Given the description of an element on the screen output the (x, y) to click on. 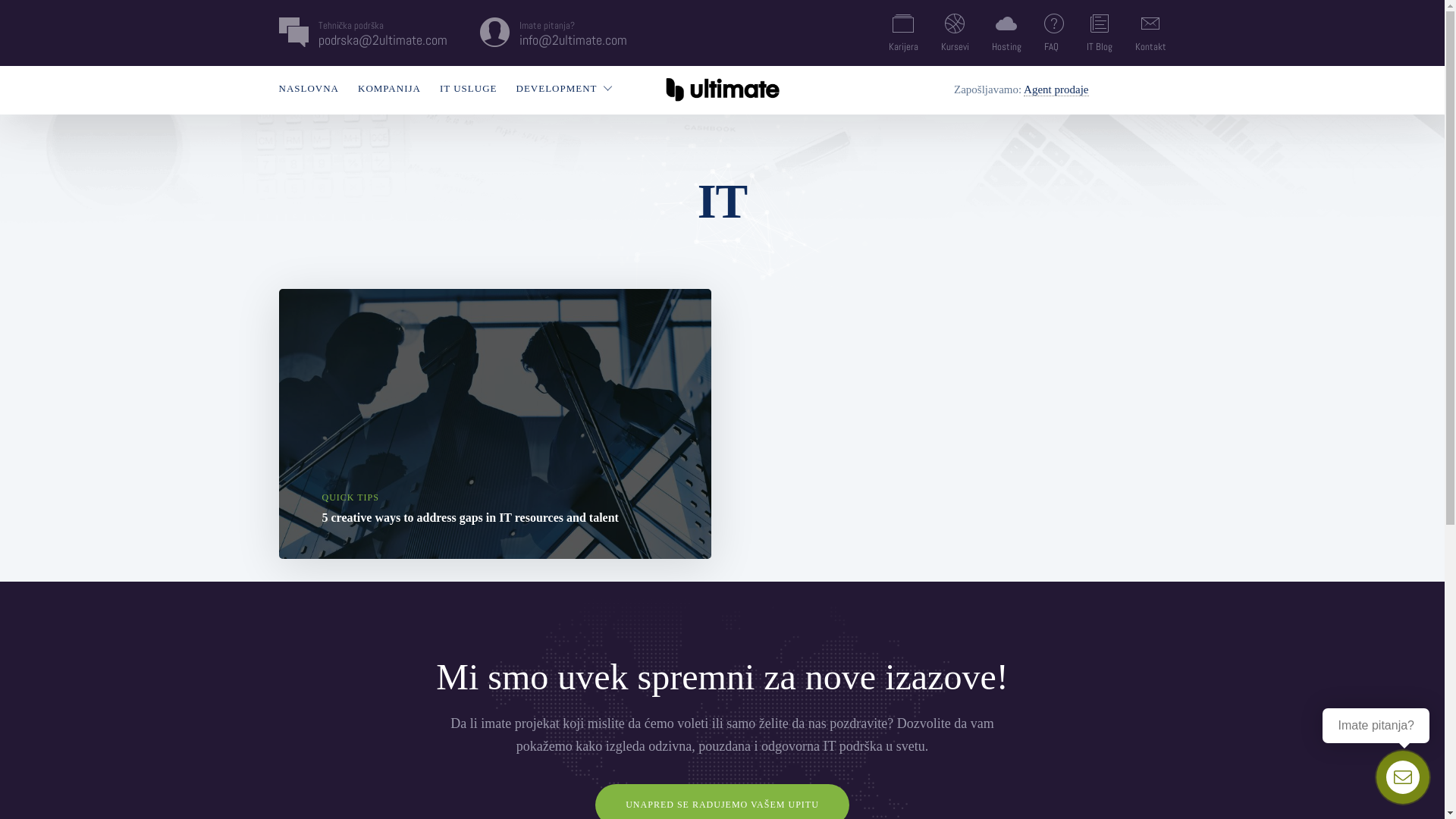
Kursevi Element type: text (954, 32)
IT Blog Element type: text (1098, 32)
reflection-of-three-men-PXDYH77(1) Element type: hover (495, 423)
IT USLUGE Element type: text (468, 87)
NASLOVNA Element type: text (309, 87)
Agent prodaje Element type: text (1055, 89)
Hosting Element type: text (1006, 32)
5 creative ways to address gaps in IT resources and talent Element type: text (469, 517)
QUICK TIPS Element type: text (349, 497)
FAQ Element type: text (1053, 32)
Imate pitanja?
info@2ultimate.com Element type: text (572, 32)
KOMPANIJA Element type: text (388, 87)
Kontakt Element type: text (1149, 32)
Karijera Element type: text (903, 32)
DEVELOPMENT Element type: text (555, 87)
